Given the description of an element on the screen output the (x, y) to click on. 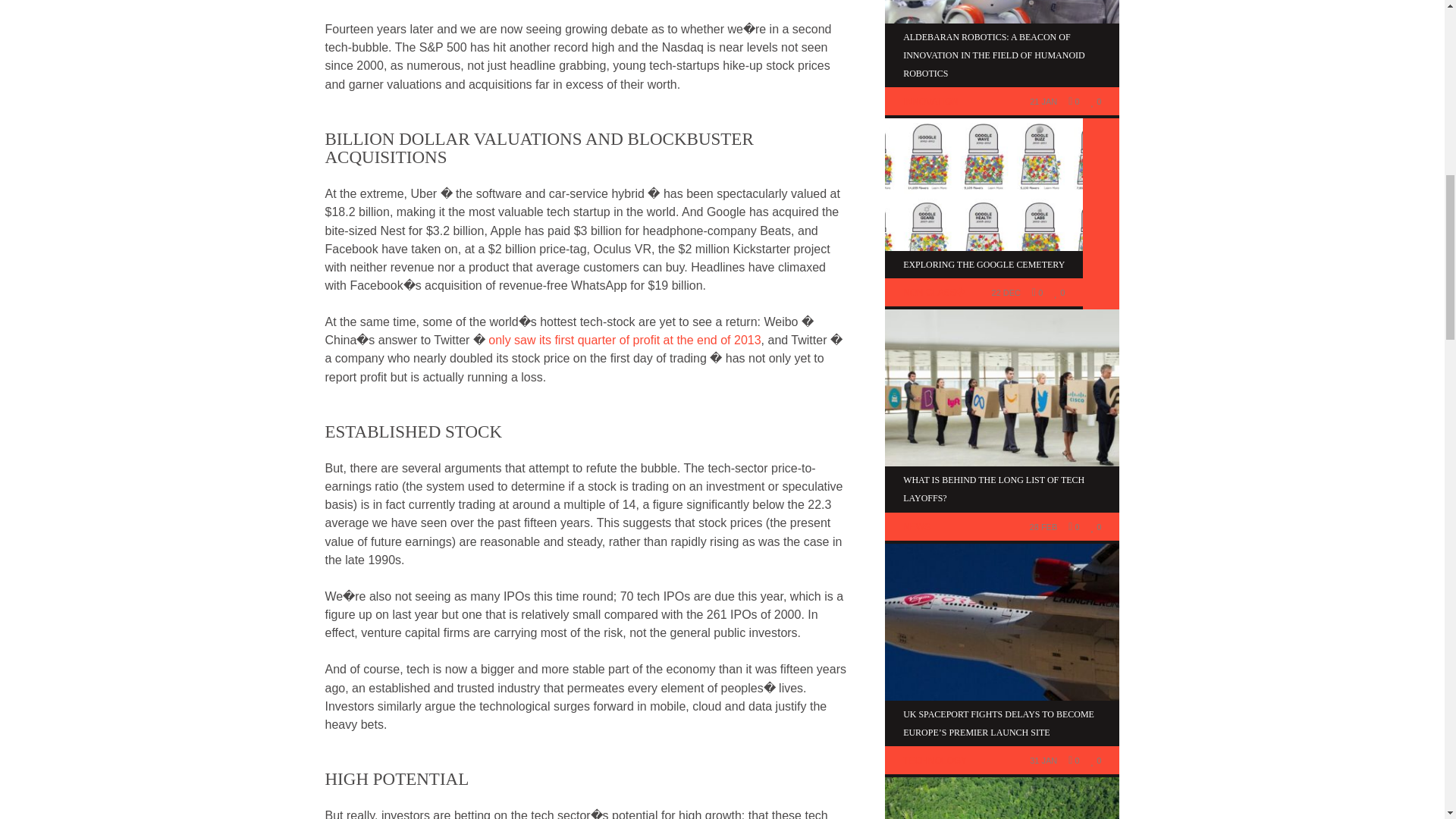
View all posts in Innovation (930, 101)
only saw its first quarter of profit at the end of 2013 (623, 339)
NEWS (916, 526)
TECHNOLOGY (934, 760)
View all posts in Technology (934, 760)
INNOVATION (930, 101)
View all posts in News (916, 526)
EXPLORING THE GOOGLE CEMETERY (983, 264)
WHAT IS BEHIND THE LONG LIST OF TECH LAYOFFS? (993, 489)
